Given the description of an element on the screen output the (x, y) to click on. 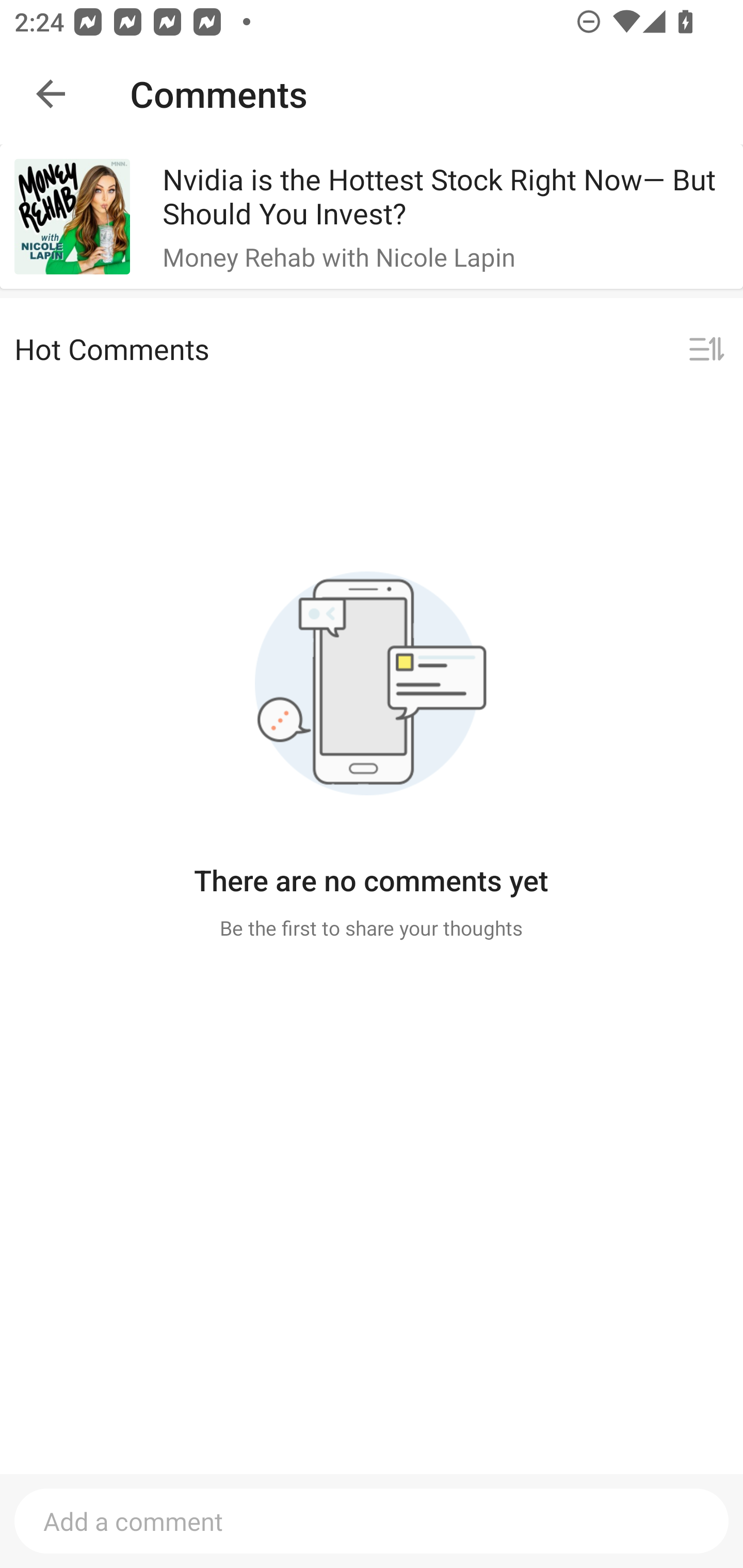
Navigate up (50, 93)
 (706, 349)
Add a comment (371, 1520)
